Given the description of an element on the screen output the (x, y) to click on. 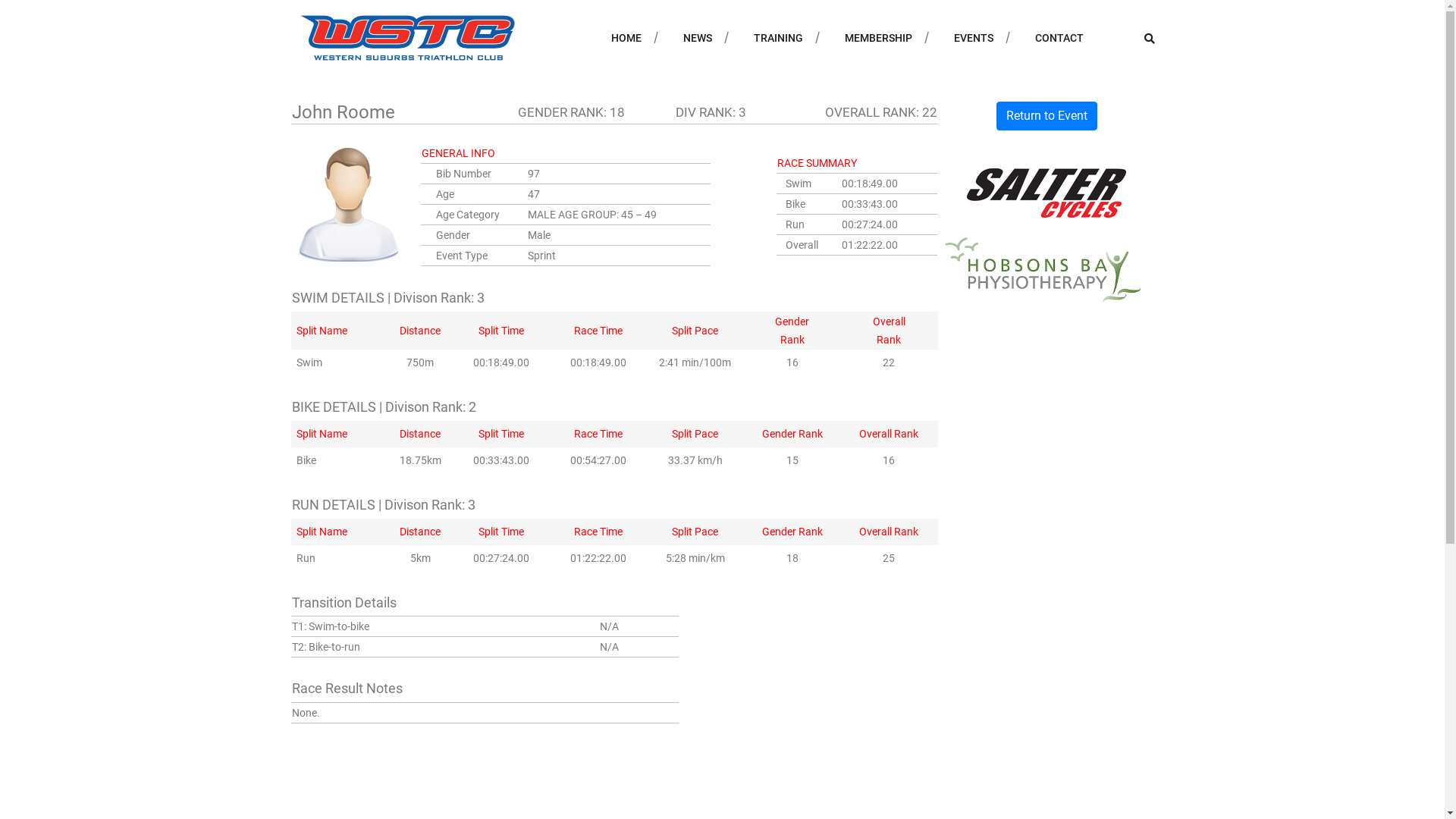
TRAINING Element type: text (778, 37)
HOME Element type: text (626, 37)
EVENTS Element type: text (973, 37)
CONTACT Element type: text (1058, 37)
MEMBERSHIP Element type: text (878, 37)
Return to Event Element type: text (1046, 115)
NEWS Element type: text (696, 37)
